Given the description of an element on the screen output the (x, y) to click on. 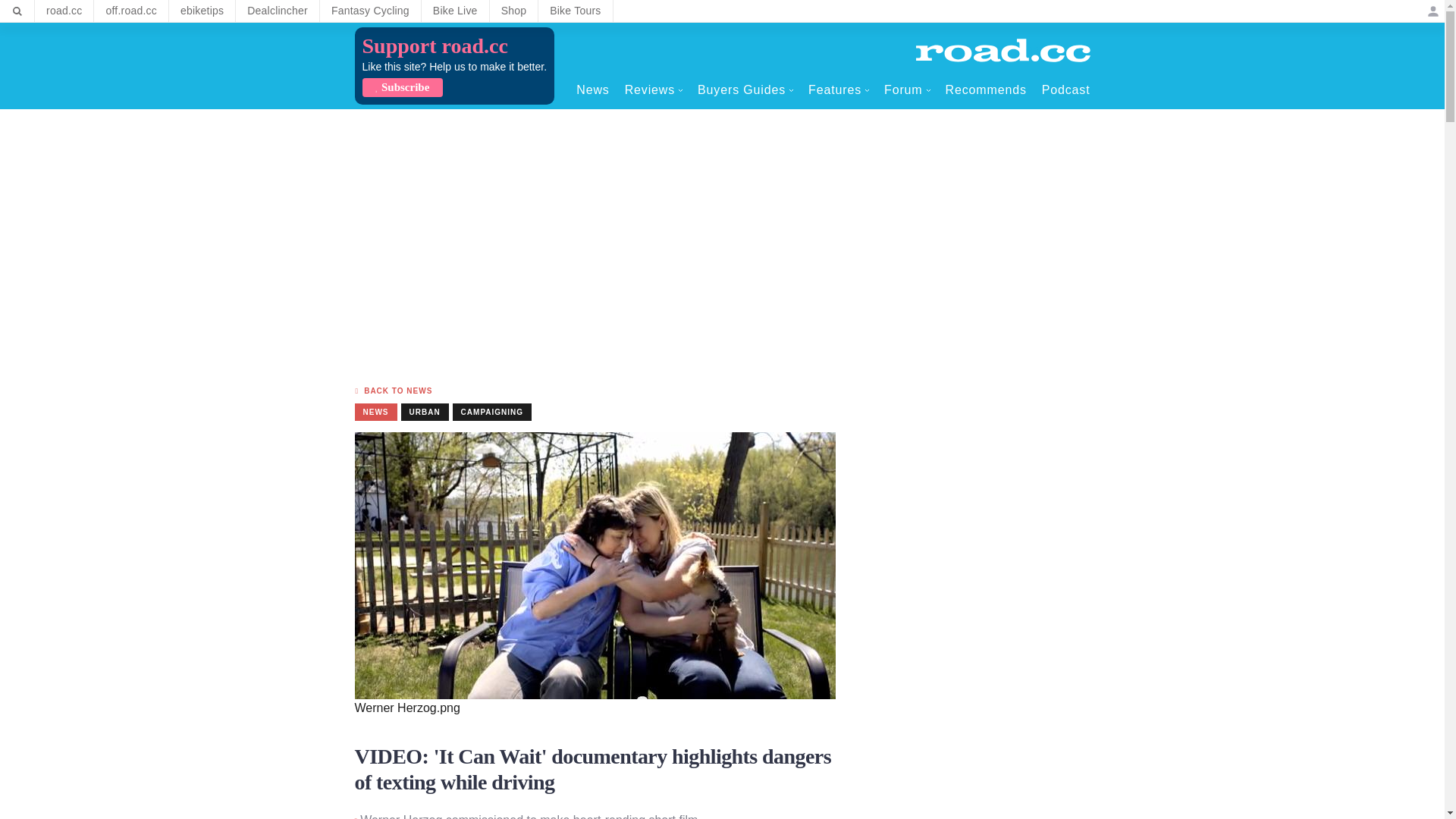
Bike Live (455, 11)
Dealclincher (276, 11)
ebiketips (201, 11)
Bike Tours (574, 11)
Home (1002, 50)
Fantasy Cycling (370, 11)
off.road.cc (131, 11)
road.cc (63, 11)
Shop (513, 11)
Reviews (653, 89)
Subscribe (402, 87)
